Given the description of an element on the screen output the (x, y) to click on. 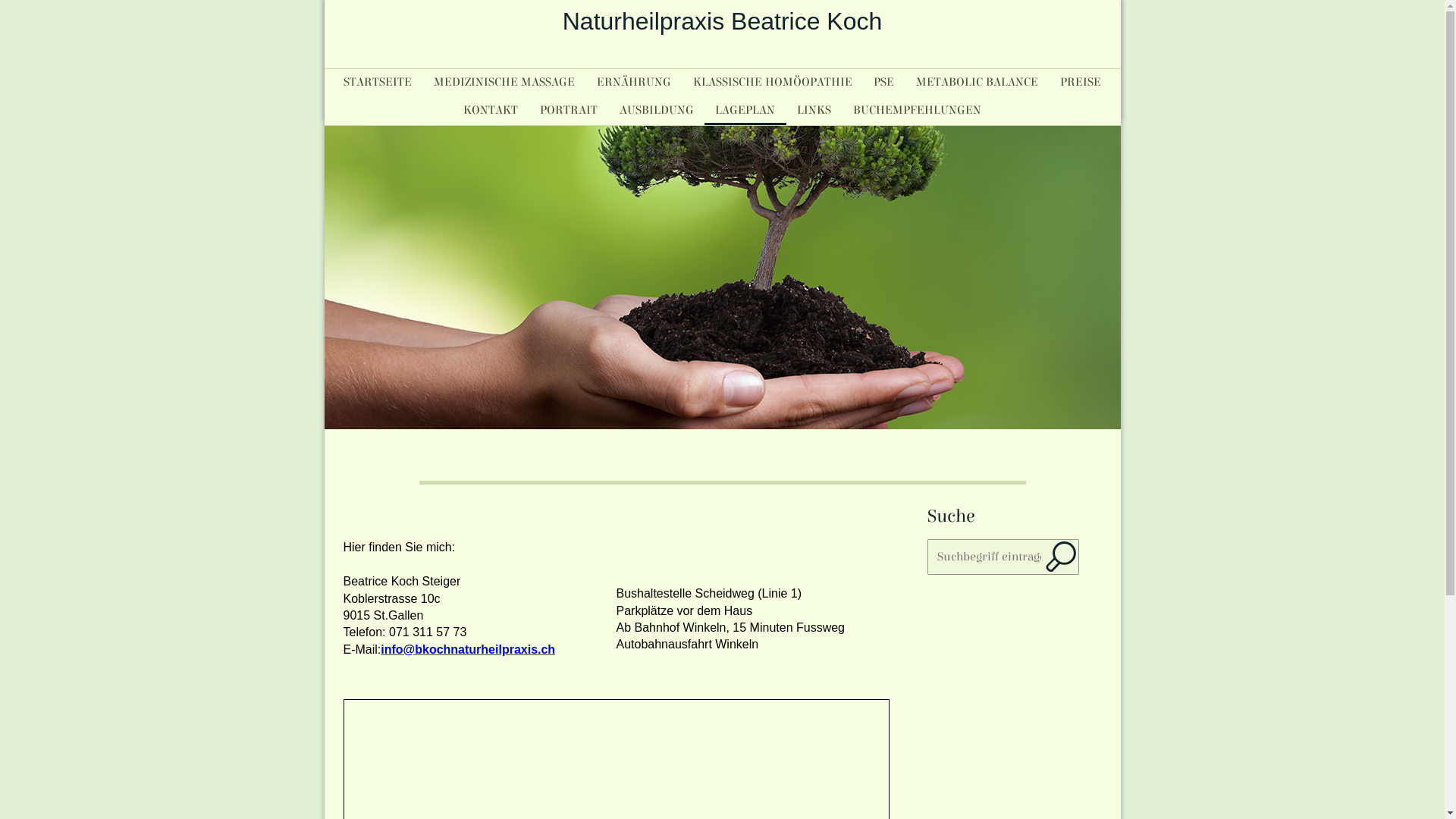
AUSBILDUNG Element type: text (656, 109)
BUCHEMPFEHLUNGEN Element type: text (917, 109)
KONTAKT Element type: text (490, 109)
MEDIZINISCHE MASSAGE Element type: text (504, 81)
METABOLIC BALANCE Element type: text (977, 81)
STARTSEITE Element type: text (377, 81)
info@bkochnaturheilpraxis.ch Element type: text (467, 649)
LAGEPLAN Element type: text (745, 109)
PSE Element type: text (883, 81)
LINKS Element type: text (814, 109)
PREISE Element type: text (1079, 81)
PORTRAIT Element type: text (568, 109)
